Given the description of an element on the screen output the (x, y) to click on. 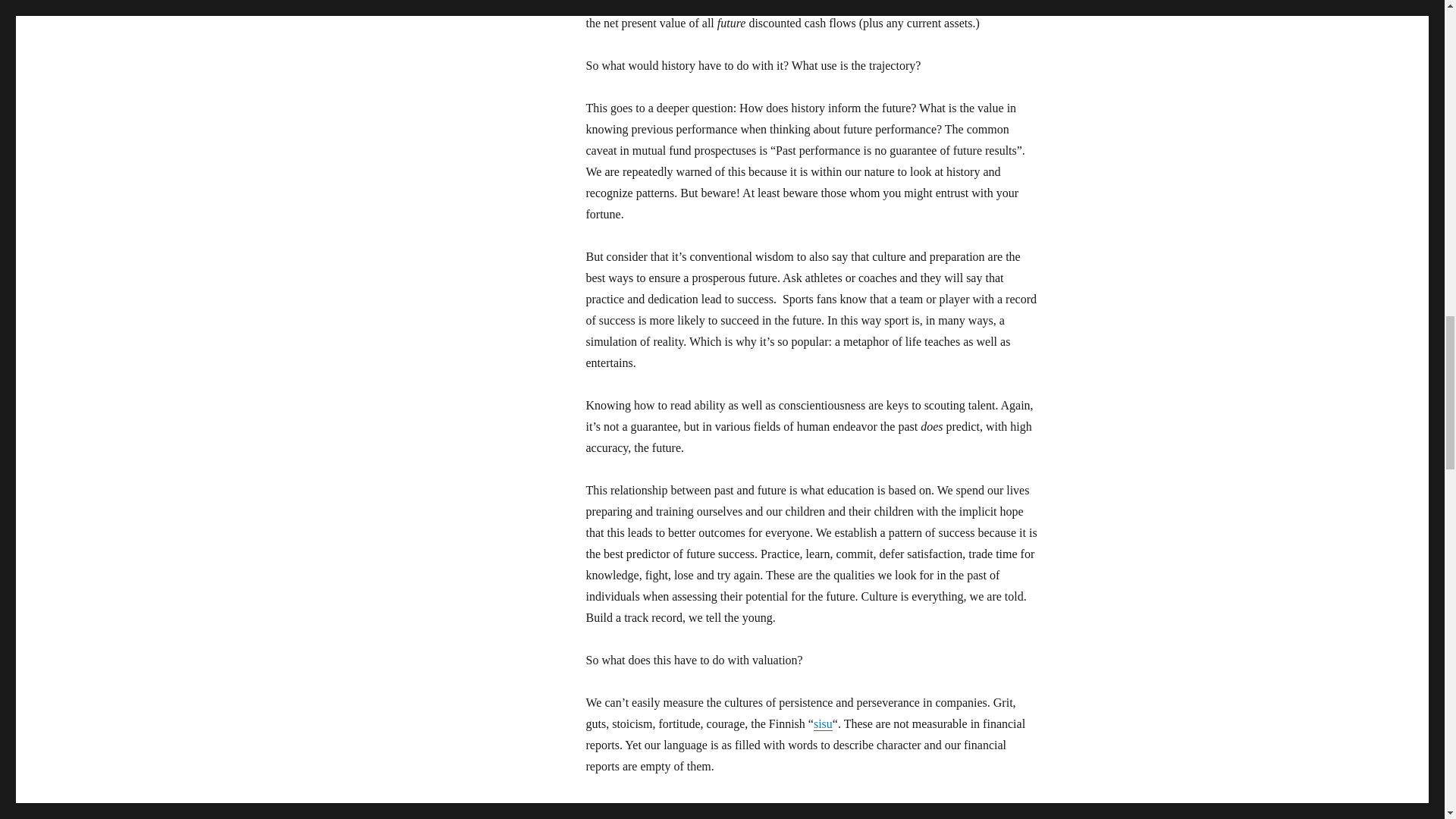
sisu (822, 723)
